Given the description of an element on the screen output the (x, y) to click on. 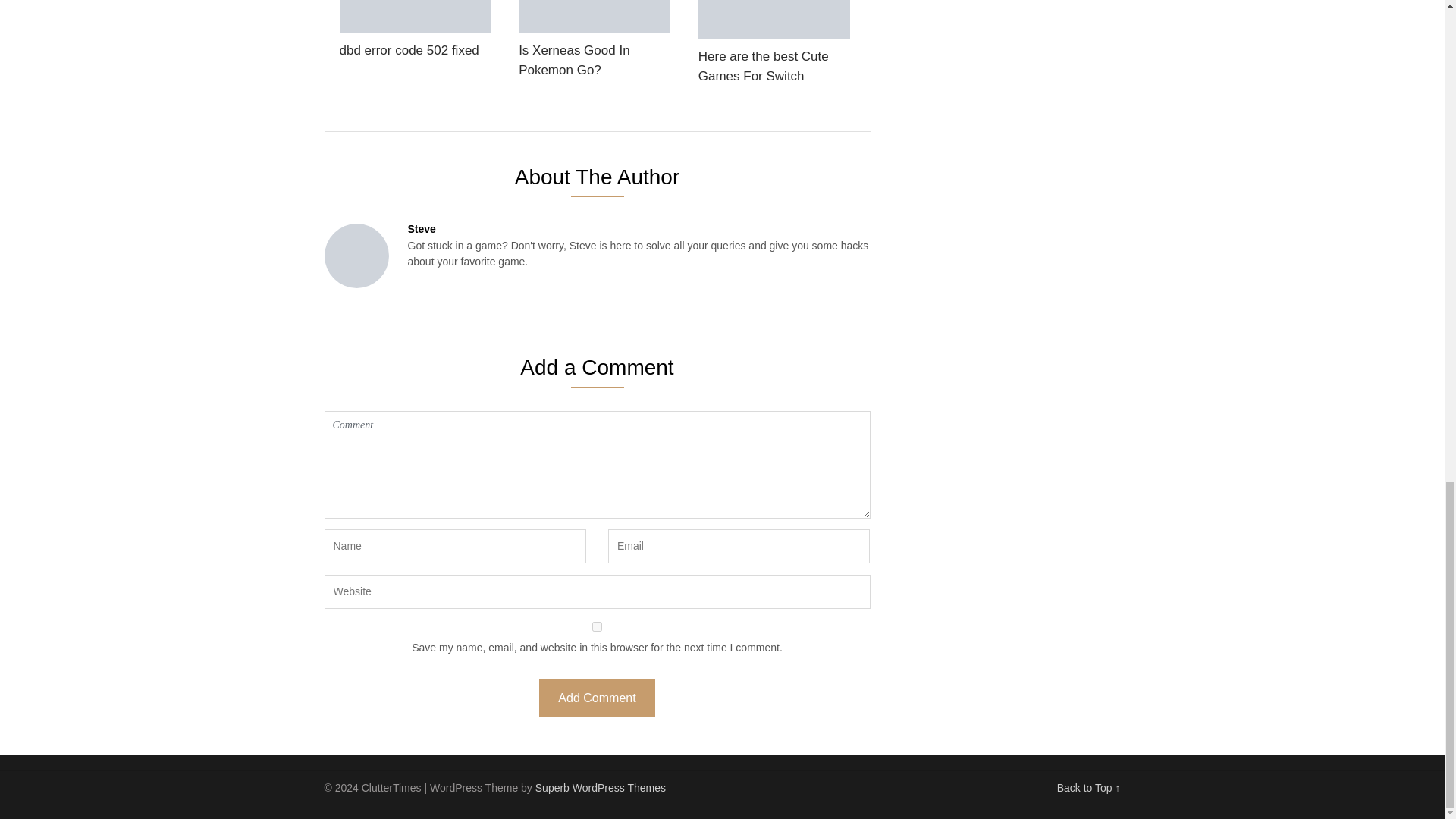
Is Xerneas Good In Pokemon Go? (593, 43)
Is Xerneas Good In Pokemon Go? 4 (593, 16)
Add Comment (595, 697)
Is Xerneas Good In Pokemon Go? (593, 43)
yes (597, 626)
dbd error code 502 fixed (415, 33)
Here are the best Cute Games For Switch (774, 46)
Superb WordPress Themes (600, 787)
dbd error code 502 fixed (415, 33)
dbd error code 502 fixed 3 (415, 16)
Add Comment (595, 697)
Here are the best Cute Games For Switch 5 (774, 19)
Here are the best Cute Games For Switch (774, 46)
